Given the description of an element on the screen output the (x, y) to click on. 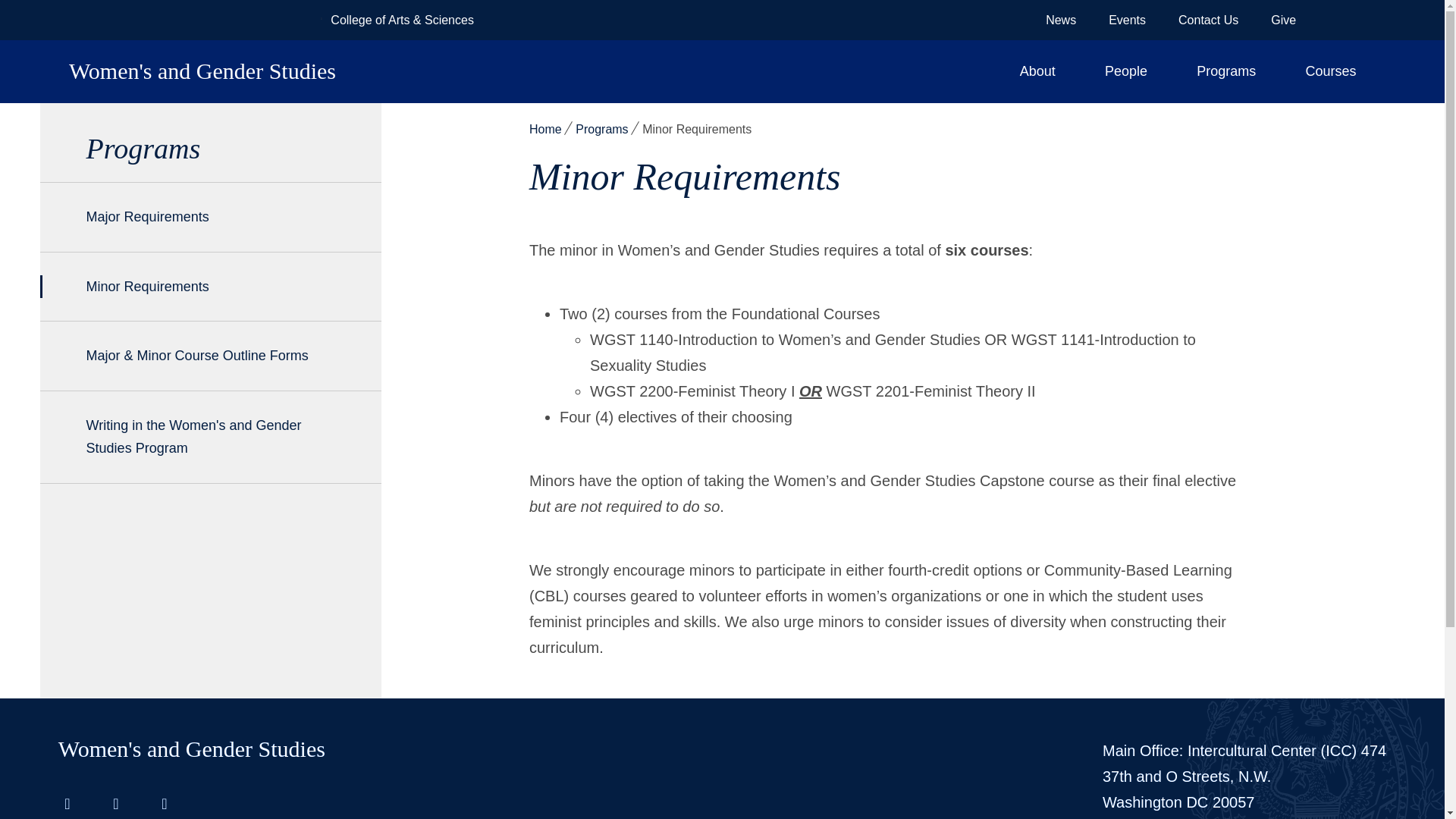
Programs (1226, 71)
Women's and Gender Studies (469, 70)
Events (1126, 20)
News (1060, 20)
Courses (1330, 71)
Contact Us (1207, 20)
